Given the description of an element on the screen output the (x, y) to click on. 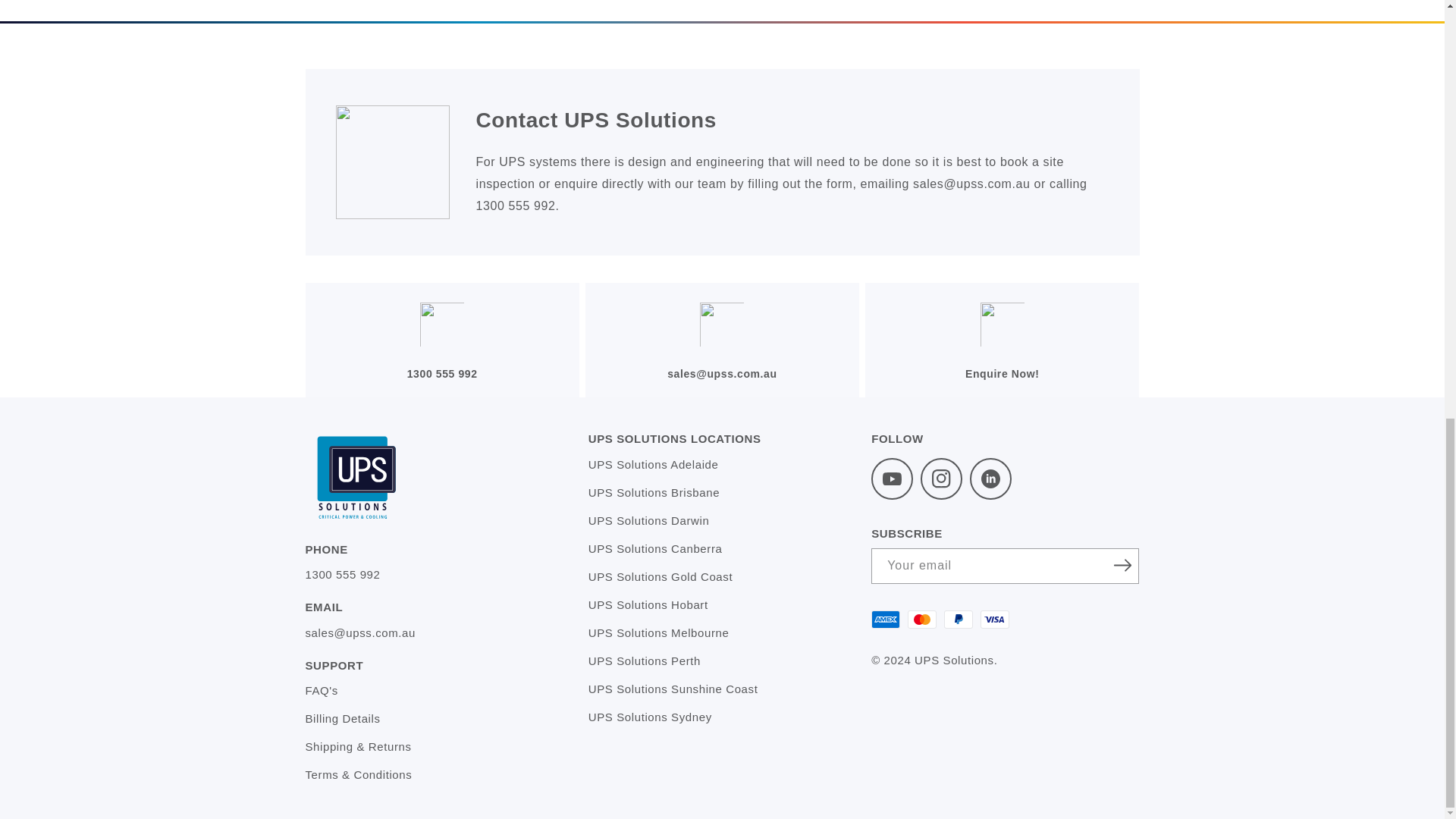
PayPal (957, 619)
American Express (884, 619)
Mastercard (921, 619)
